Given the description of an element on the screen output the (x, y) to click on. 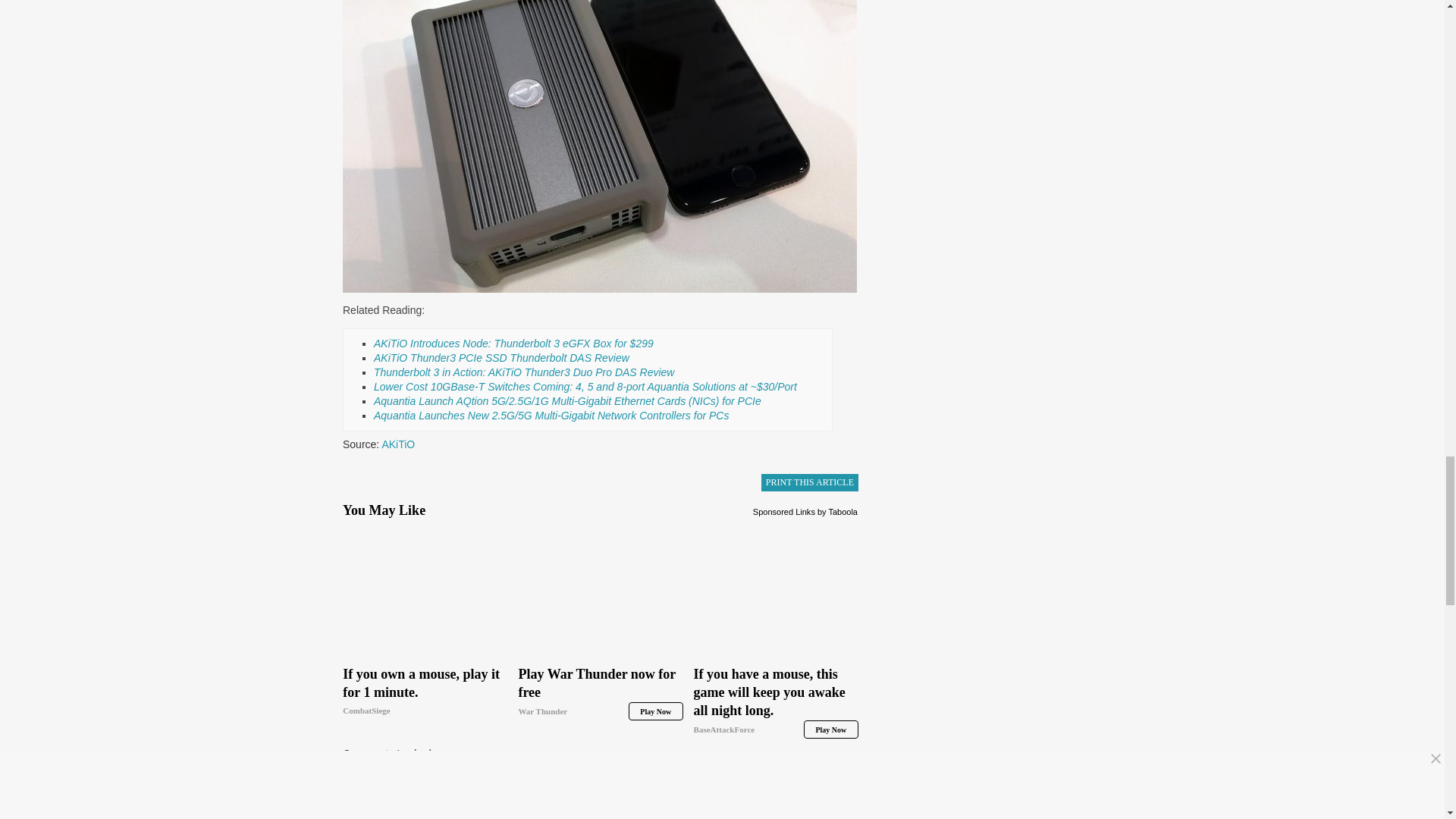
If you own a mouse, play it for 1 minute. (424, 692)
If you own a mouse, play it for 1 minute. (424, 592)
Play War Thunder now for free (600, 692)
Play War Thunder now for free (600, 592)
